Given the description of an element on the screen output the (x, y) to click on. 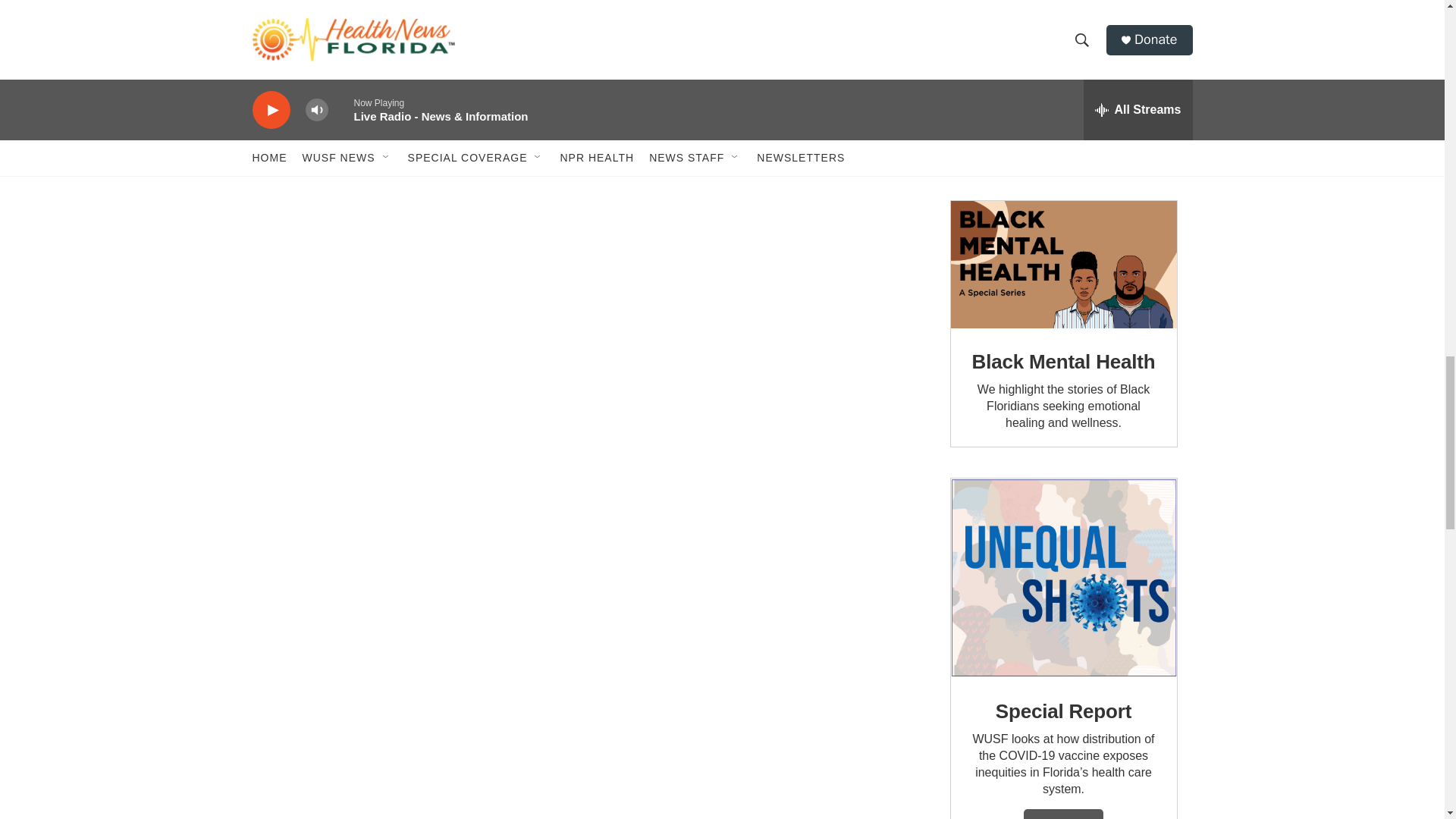
3rd party ad content (1062, 84)
